Given the description of an element on the screen output the (x, y) to click on. 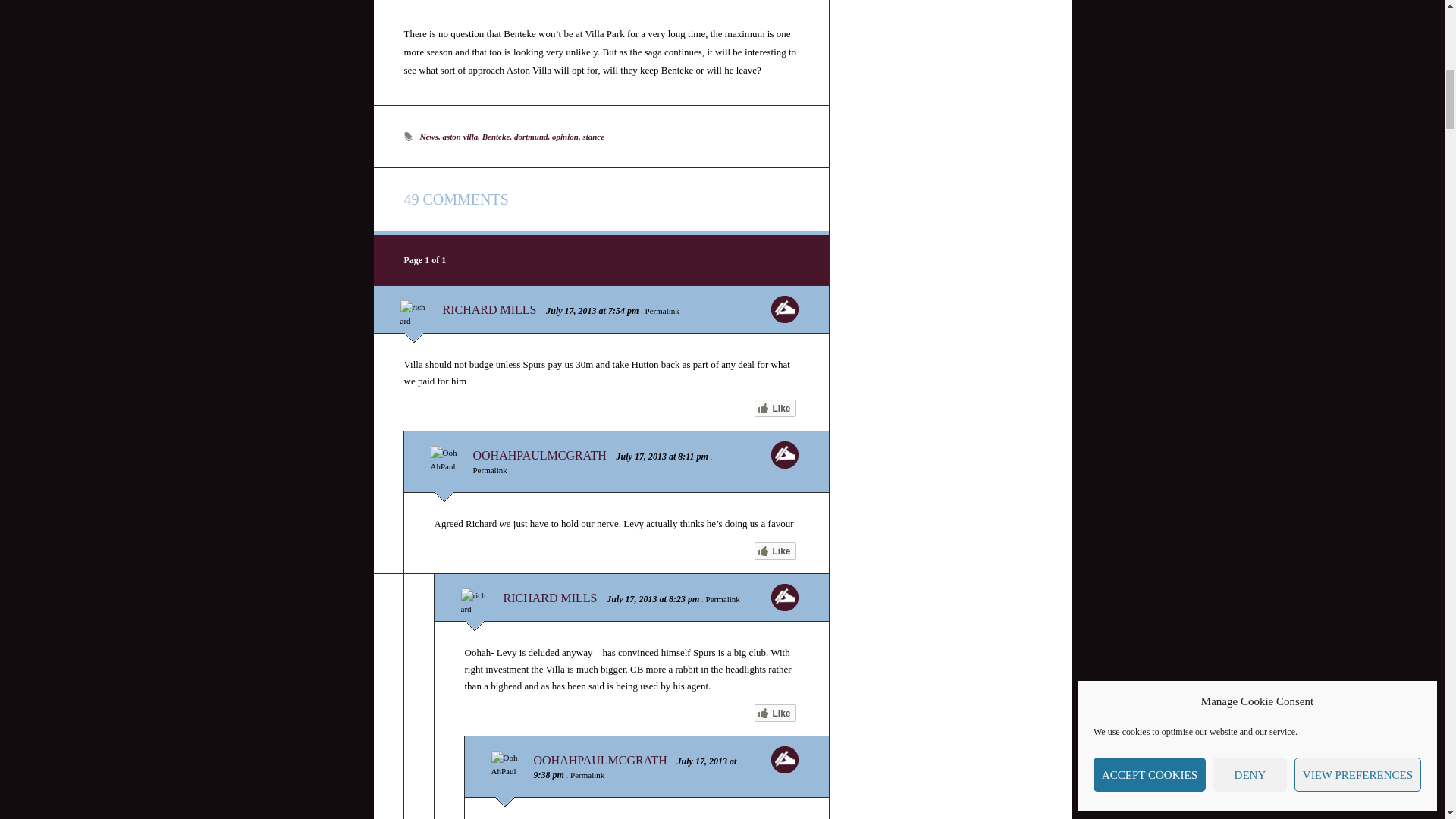
Reply (783, 596)
Reply (783, 759)
Permalink (587, 774)
Wednesday, July 17th, 2013, 8:23 pm (683, 598)
Reply (783, 308)
Wednesday, July 17th, 2013, 8:11 pm (640, 456)
Wednesday, July 17th, 2013, 8:23 pm (631, 598)
dortmund (530, 135)
opinion (564, 135)
Wednesday, July 17th, 2013, 8:11 pm (692, 456)
Permalink (489, 470)
stance (593, 135)
aston villa (459, 135)
Benteke (496, 135)
Reply (783, 454)
